Given the description of an element on the screen output the (x, y) to click on. 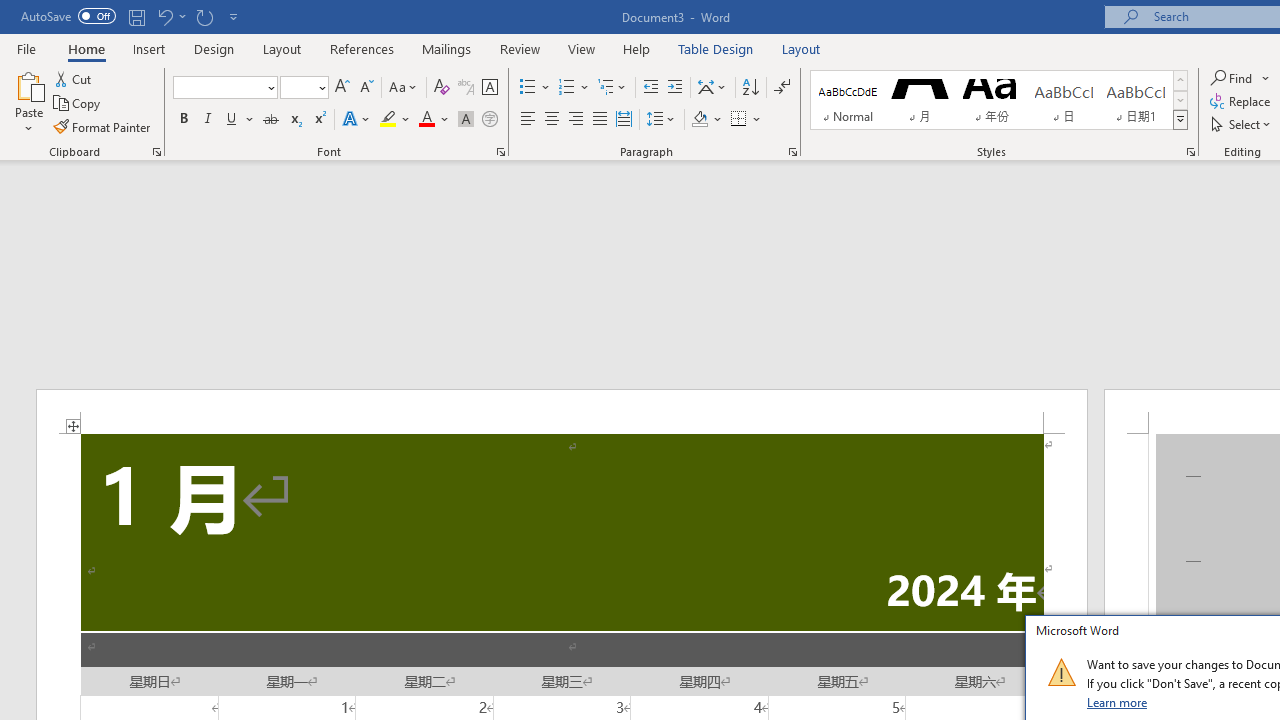
Replace... (1242, 101)
Layout (801, 48)
Customize Quick Access Toolbar (234, 15)
Select (1242, 124)
Mailings (447, 48)
Font Color (434, 119)
Styles (1179, 120)
AutoSave (68, 16)
Underline (239, 119)
Show/Hide Editing Marks (781, 87)
Quick Access Toolbar (131, 16)
AutomationID: QuickStylesGallery (999, 99)
Asian Layout (712, 87)
Bullets (535, 87)
